Given the description of an element on the screen output the (x, y) to click on. 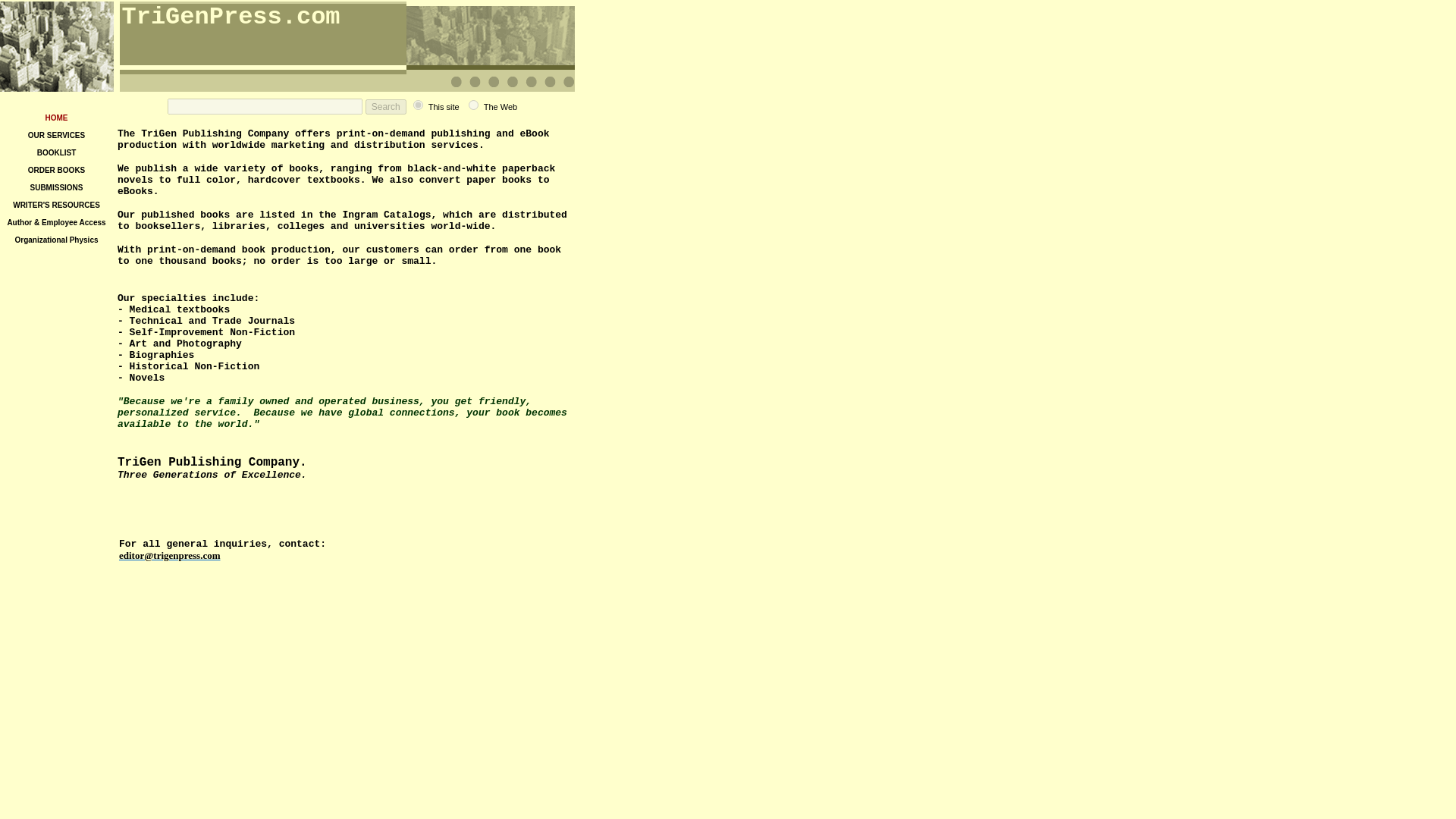
SUBMISSIONS (55, 185)
ORDER BOOKS (56, 168)
Search (385, 106)
OUR SERVICES (55, 133)
HOME (56, 115)
WRITER'S RESOURCES (56, 203)
Organizational Physics (55, 237)
www (473, 104)
Search (385, 106)
BOOKLIST (57, 151)
site (418, 104)
